Given the description of an element on the screen output the (x, y) to click on. 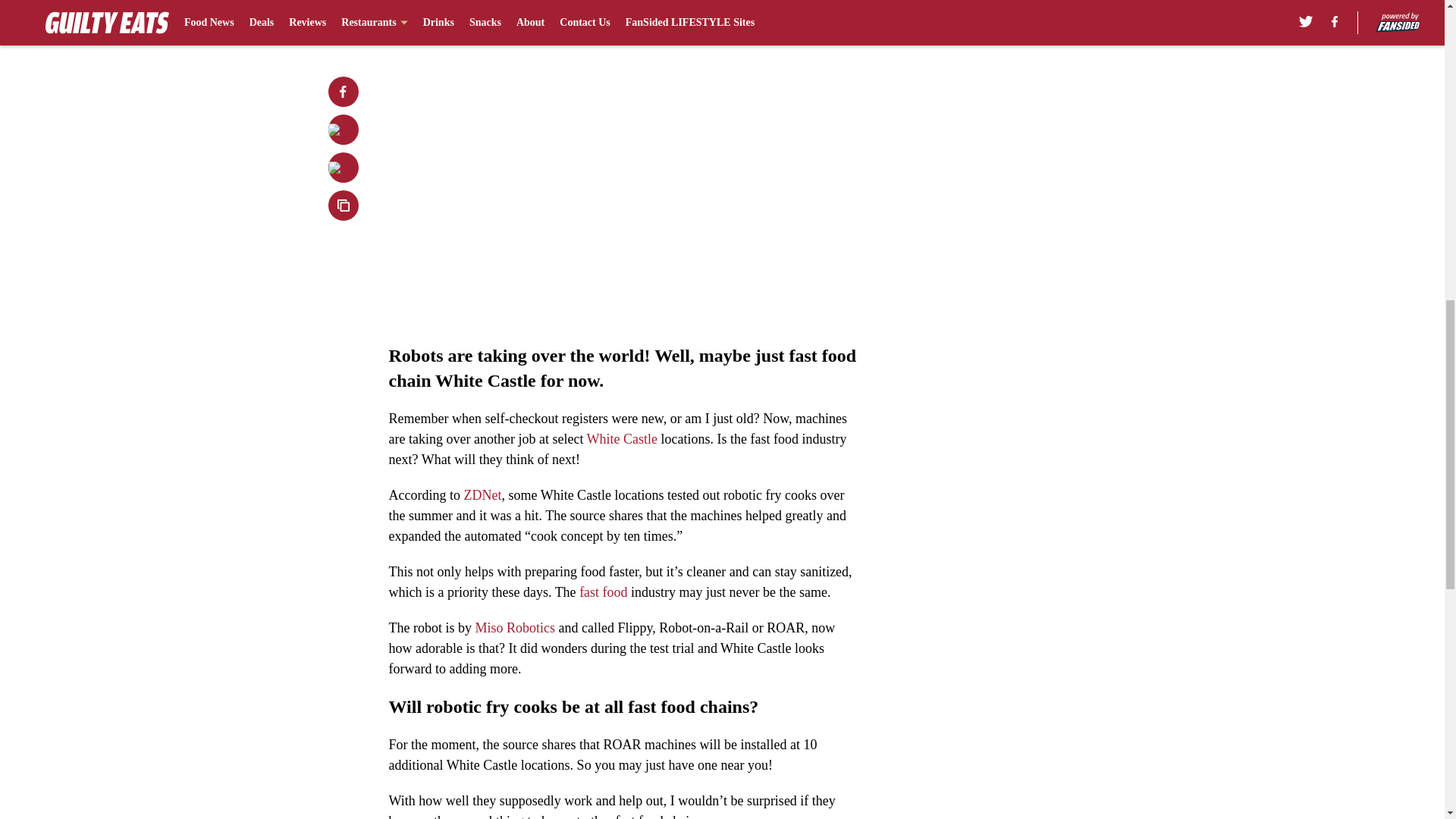
ZDNet (481, 494)
White Castle (622, 438)
Miso Robotics (514, 627)
fast food (603, 591)
